Given the description of an element on the screen output the (x, y) to click on. 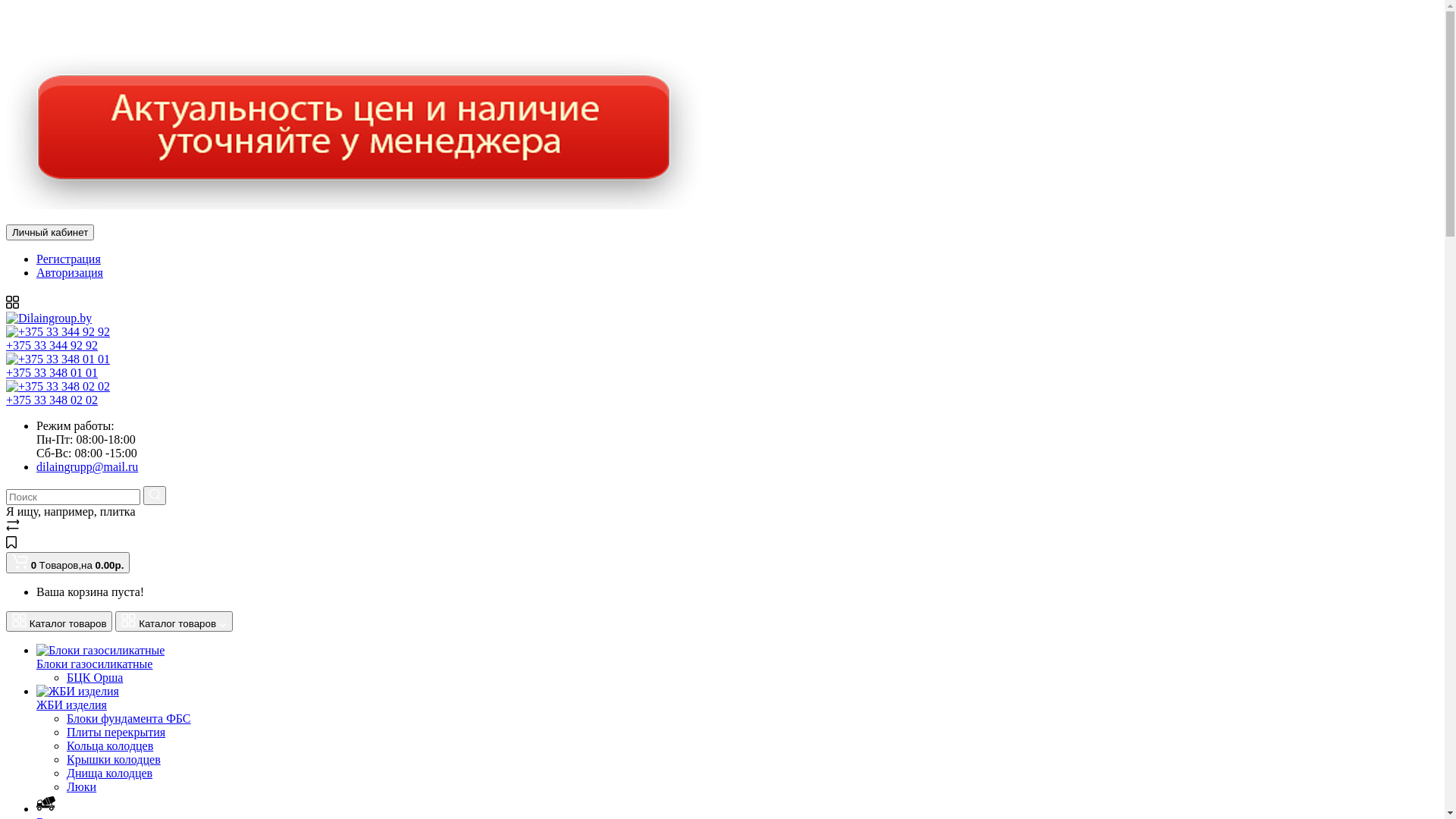
+375 33 348 01 01 Element type: text (498, 365)
+375 33 344 92 92 Element type: text (498, 338)
Dilaingroup.by Element type: hover (48, 318)
+375 33 348 02 02 Element type: text (498, 392)
dilaingrupp@mail.ru Element type: text (513, 466)
